Given the description of an element on the screen output the (x, y) to click on. 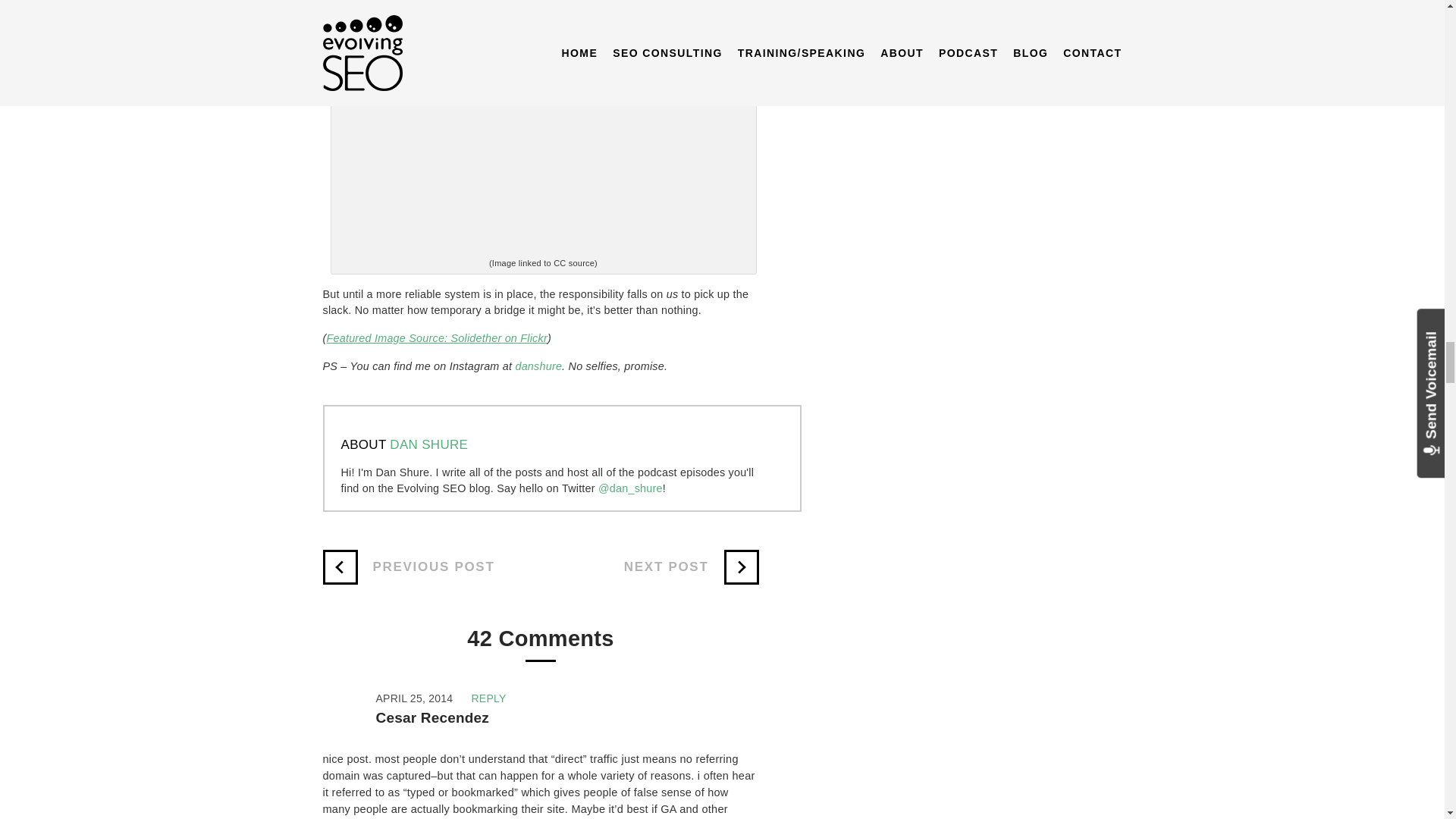
No! Google Sets Being Retired For Good From Google Sheets (409, 566)
An In Depth Comparison of Yoast SEO Vs All In One SEO (691, 566)
